Given the description of an element on the screen output the (x, y) to click on. 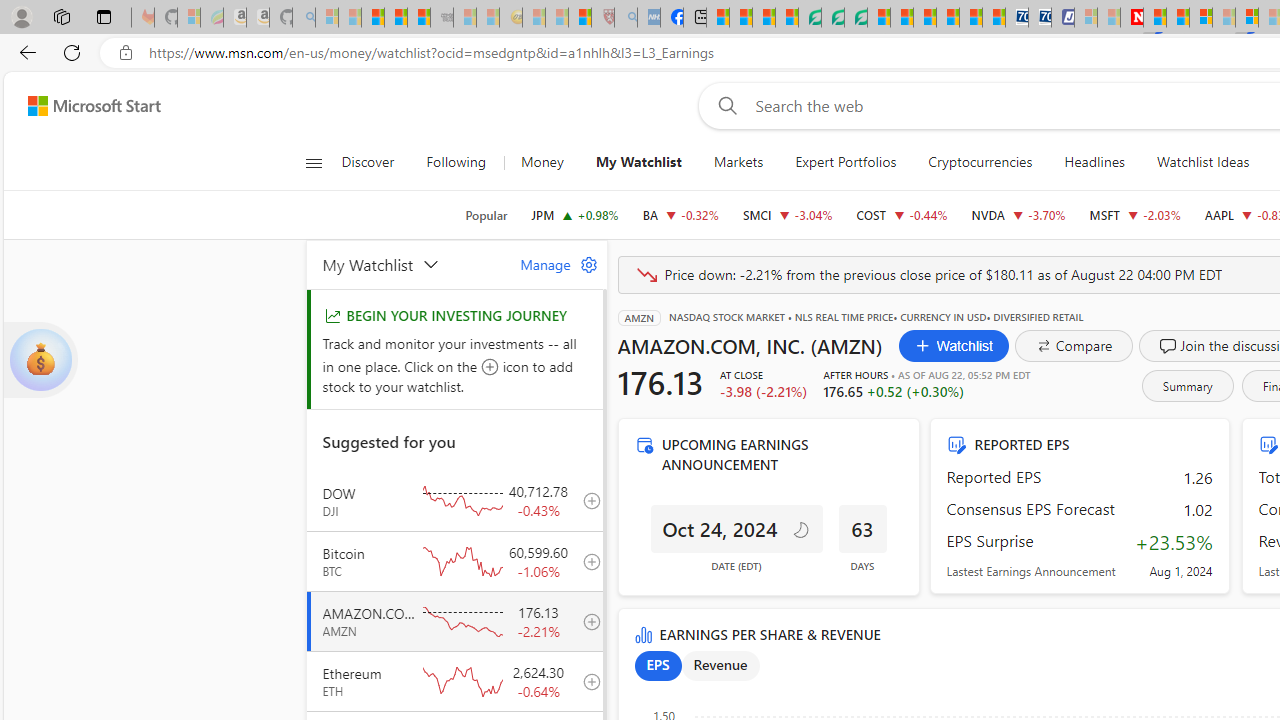
Microsoft-Report a Concern to Bing - Sleeping (188, 17)
Cryptocurrencies (980, 162)
Money (541, 162)
EPS (657, 665)
My Watchlist (638, 162)
Cheap Hotels - Save70.com (1039, 17)
Watchlist Ideas (1202, 162)
Money (541, 162)
